Given the description of an element on the screen output the (x, y) to click on. 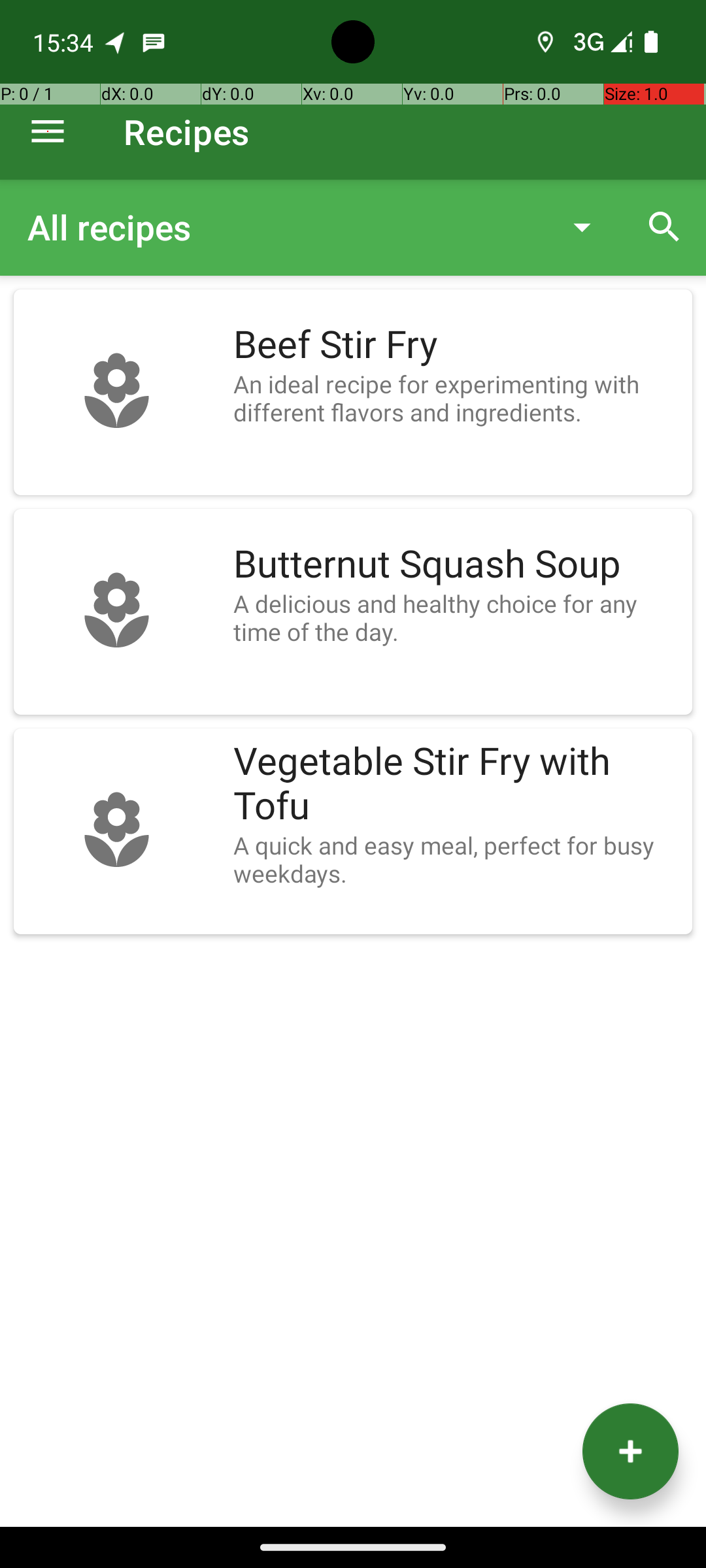
Vegetable Stir Fry with Tofu Element type: android.widget.TextView (455, 783)
SMS Messenger notification: Noa Mohamed Element type: android.widget.ImageView (153, 41)
